Given the description of an element on the screen output the (x, y) to click on. 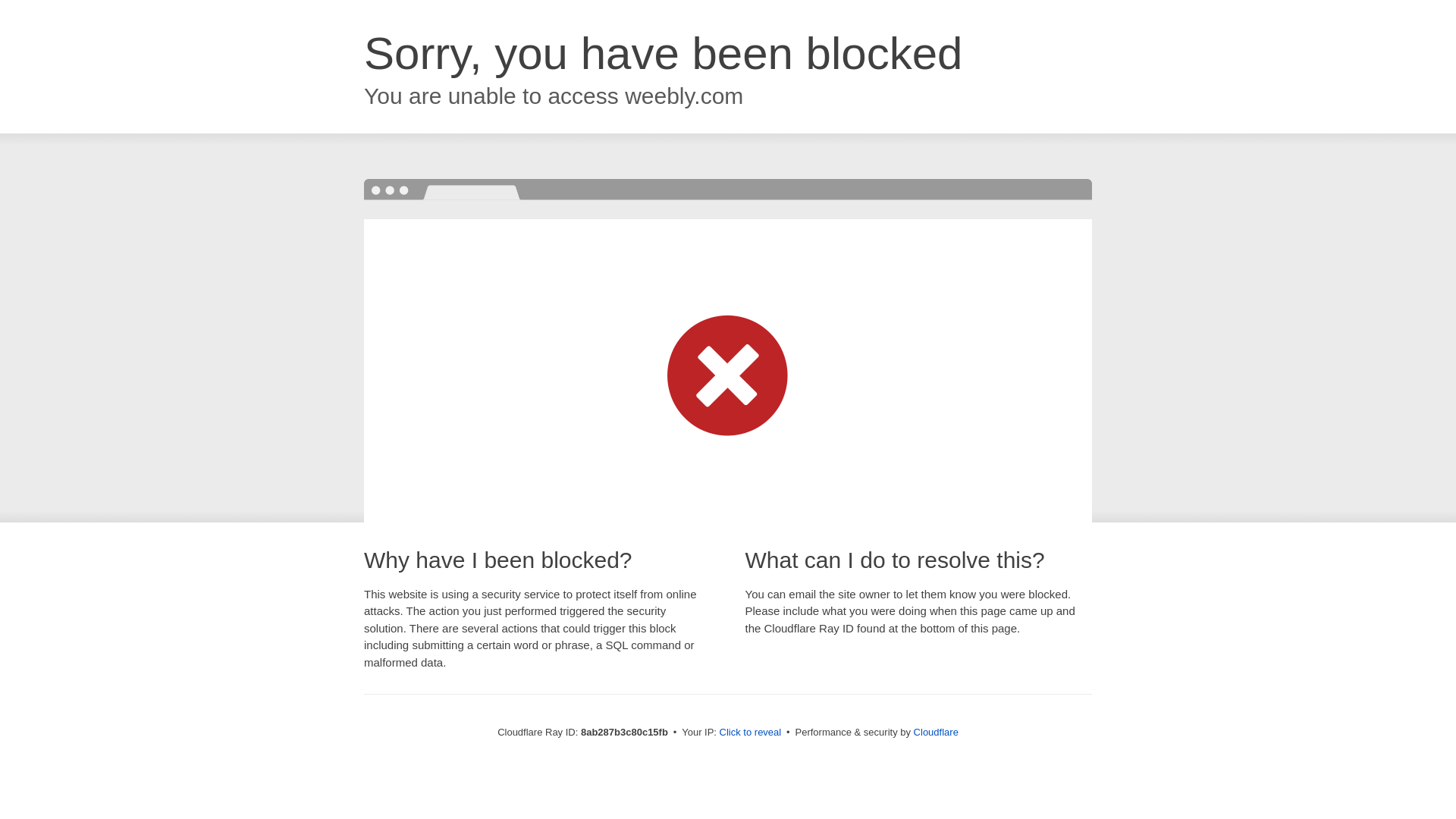
Click to reveal (750, 732)
Cloudflare (936, 731)
